Given the description of an element on the screen output the (x, y) to click on. 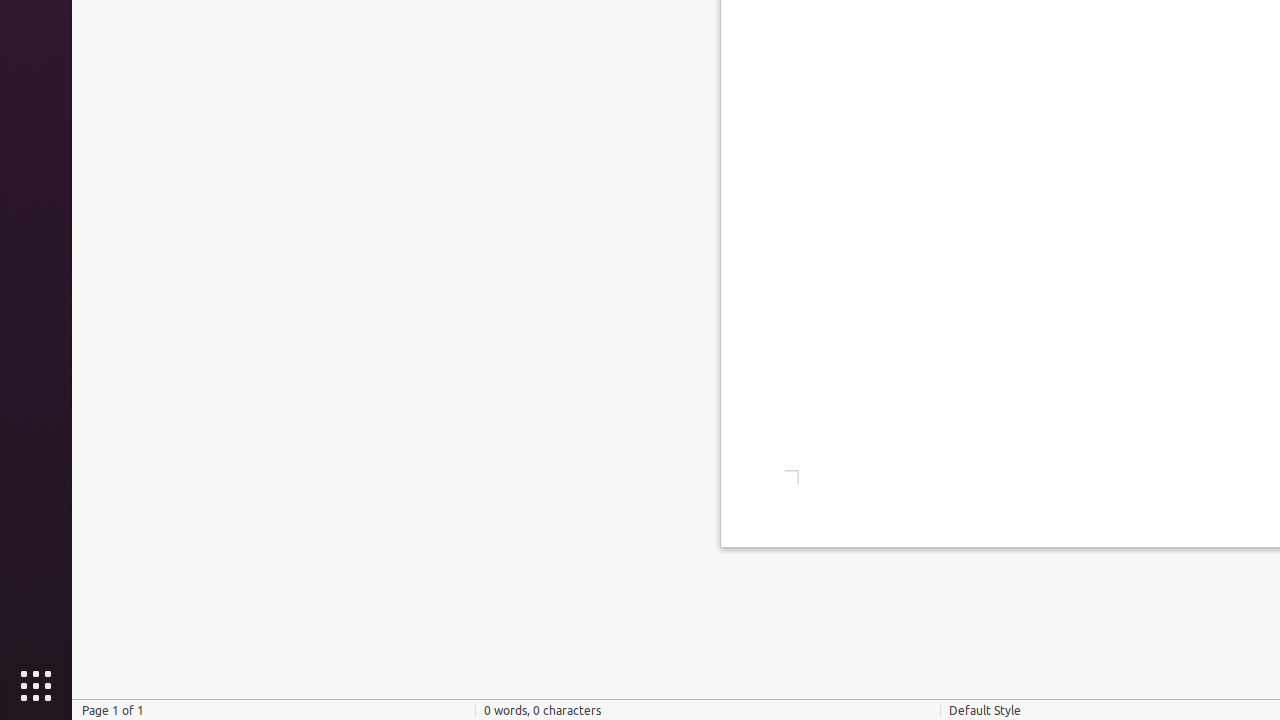
Show Applications Element type: toggle-button (36, 686)
